Given the description of an element on the screen output the (x, y) to click on. 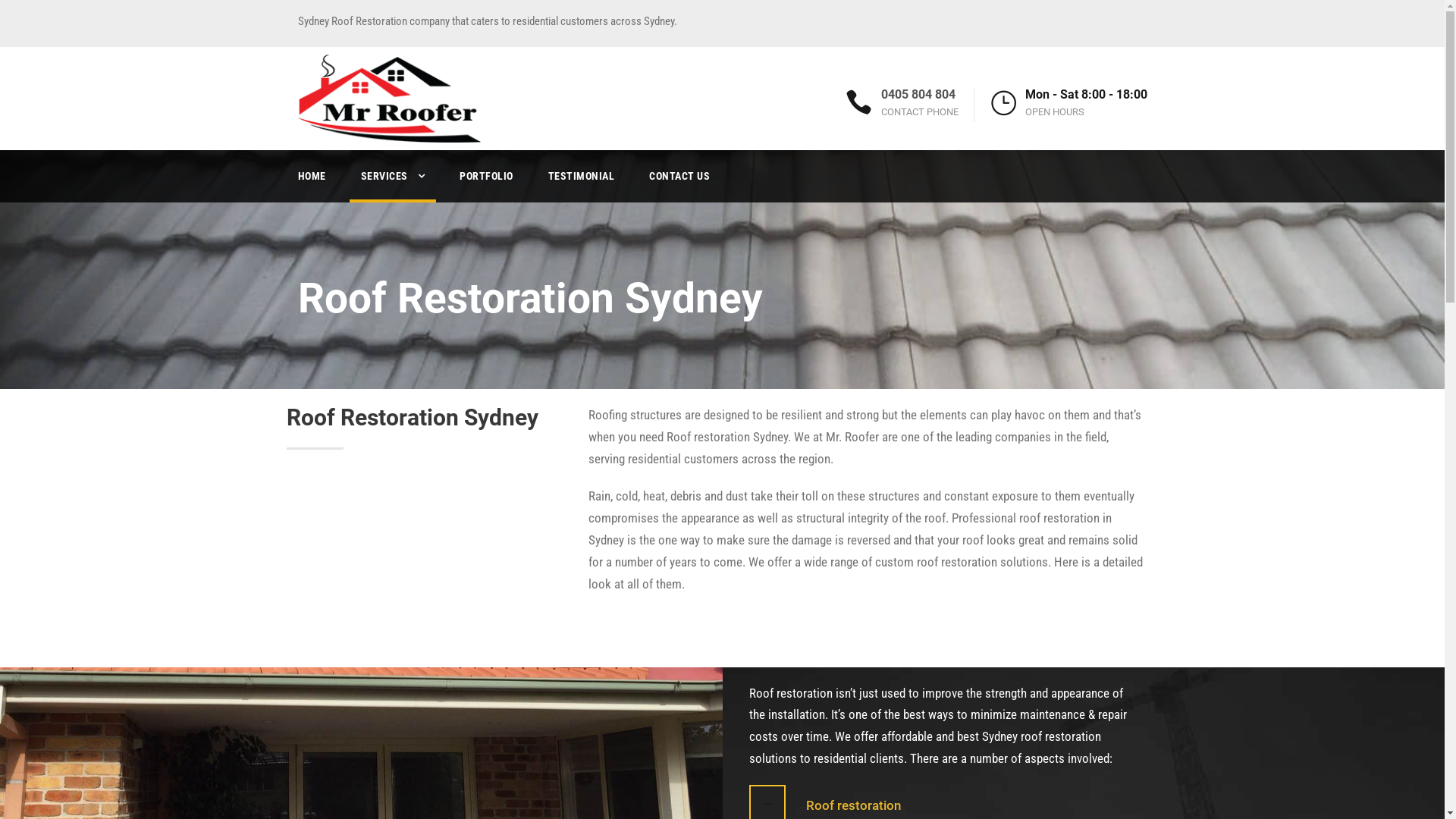
SERVICES Element type: text (392, 185)
HOME Element type: text (311, 185)
PORTFOLIO Element type: text (486, 185)
CONTACT US Element type: text (679, 185)
TESTIMONIAL Element type: text (580, 185)
0405 804 804 Element type: text (918, 94)
